Given the description of an element on the screen output the (x, y) to click on. 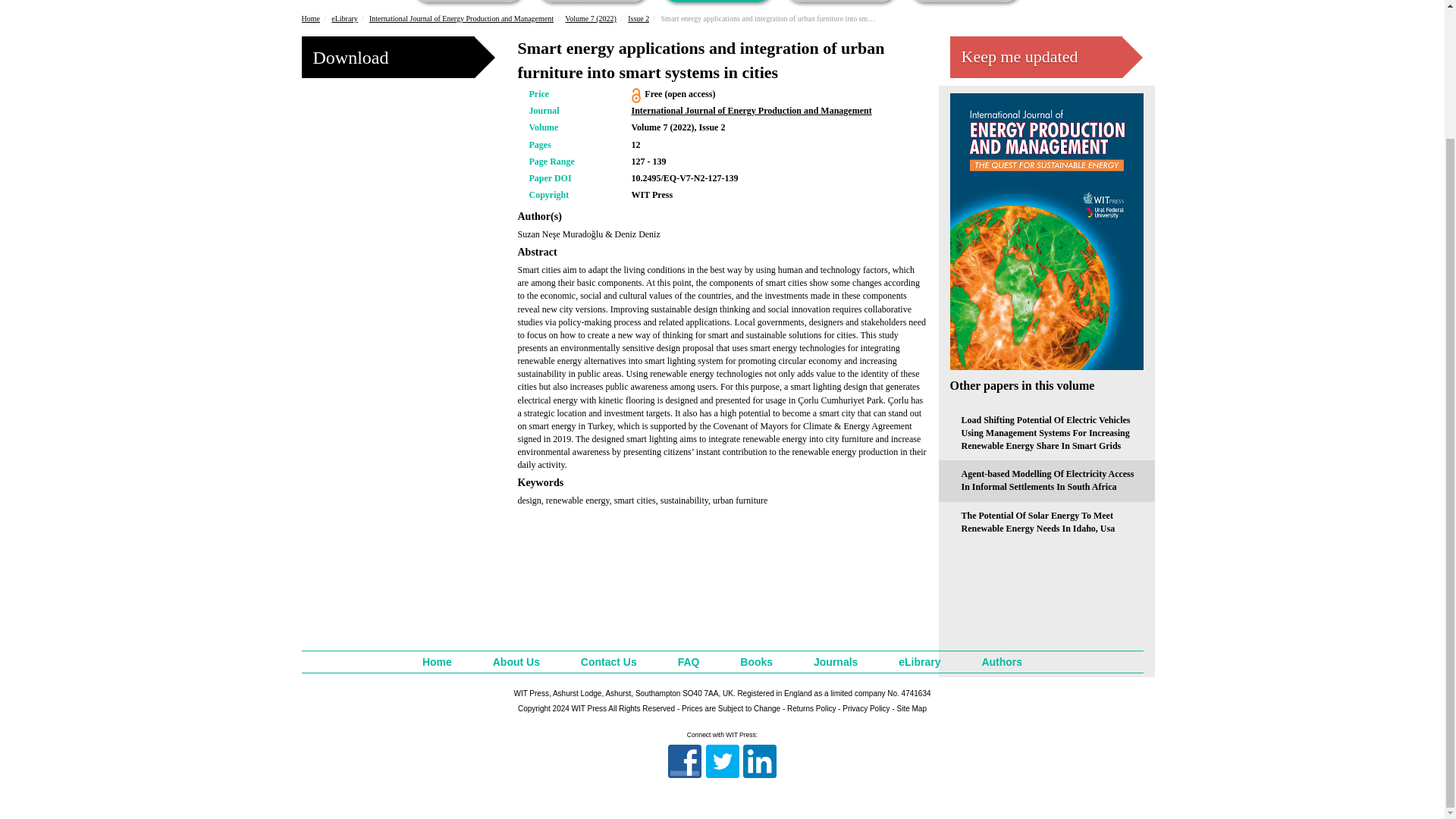
Books (467, 1)
